Given the description of an element on the screen output the (x, y) to click on. 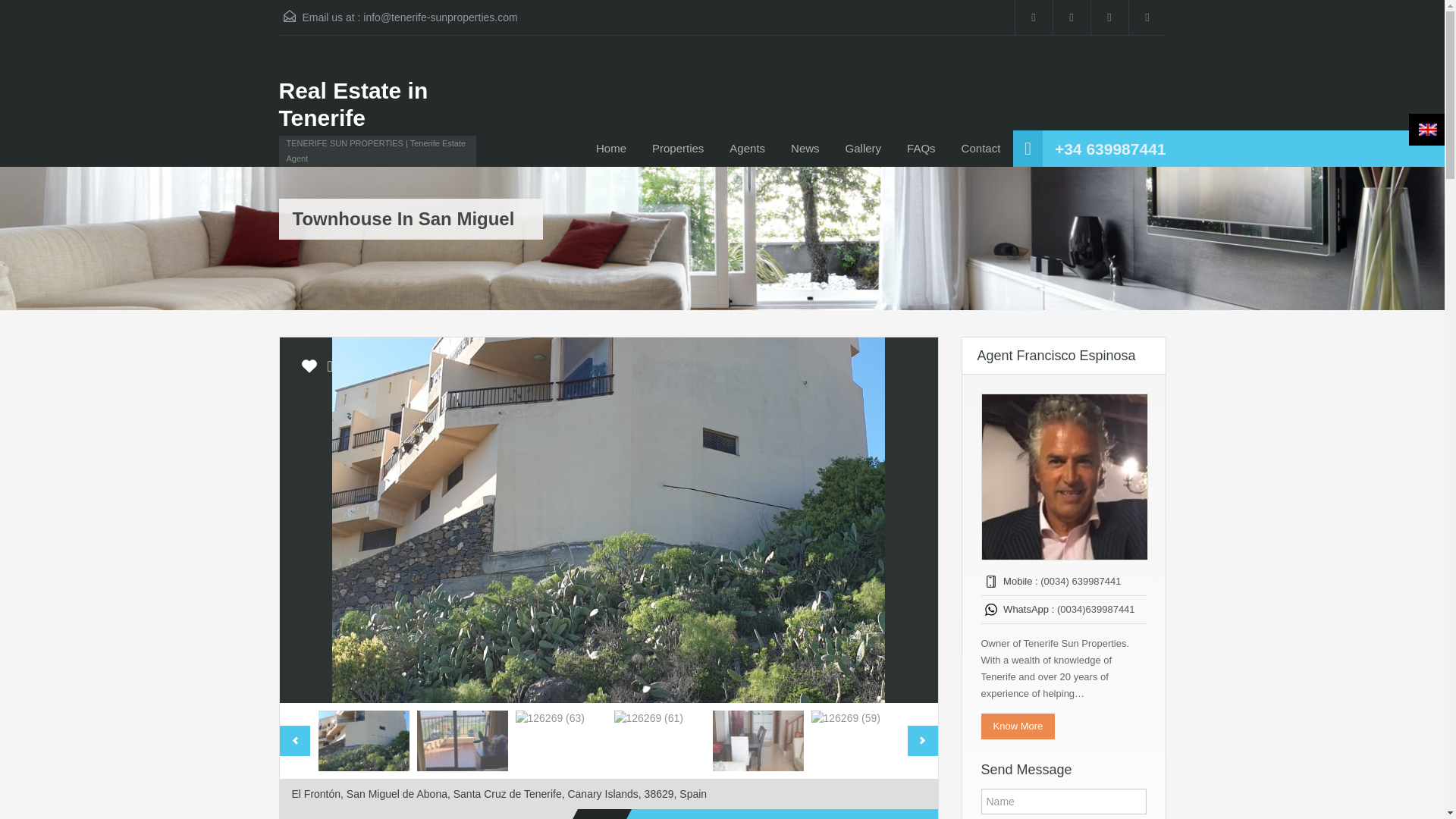
Real Estate in Tenerife (377, 103)
Add to favorite (309, 371)
Make a Call (1110, 149)
Gallery (863, 148)
FAQs (921, 148)
Agents (746, 148)
Real Estate in Tenerife (377, 103)
News (804, 148)
Home (611, 148)
Contact (981, 148)
